Given the description of an element on the screen output the (x, y) to click on. 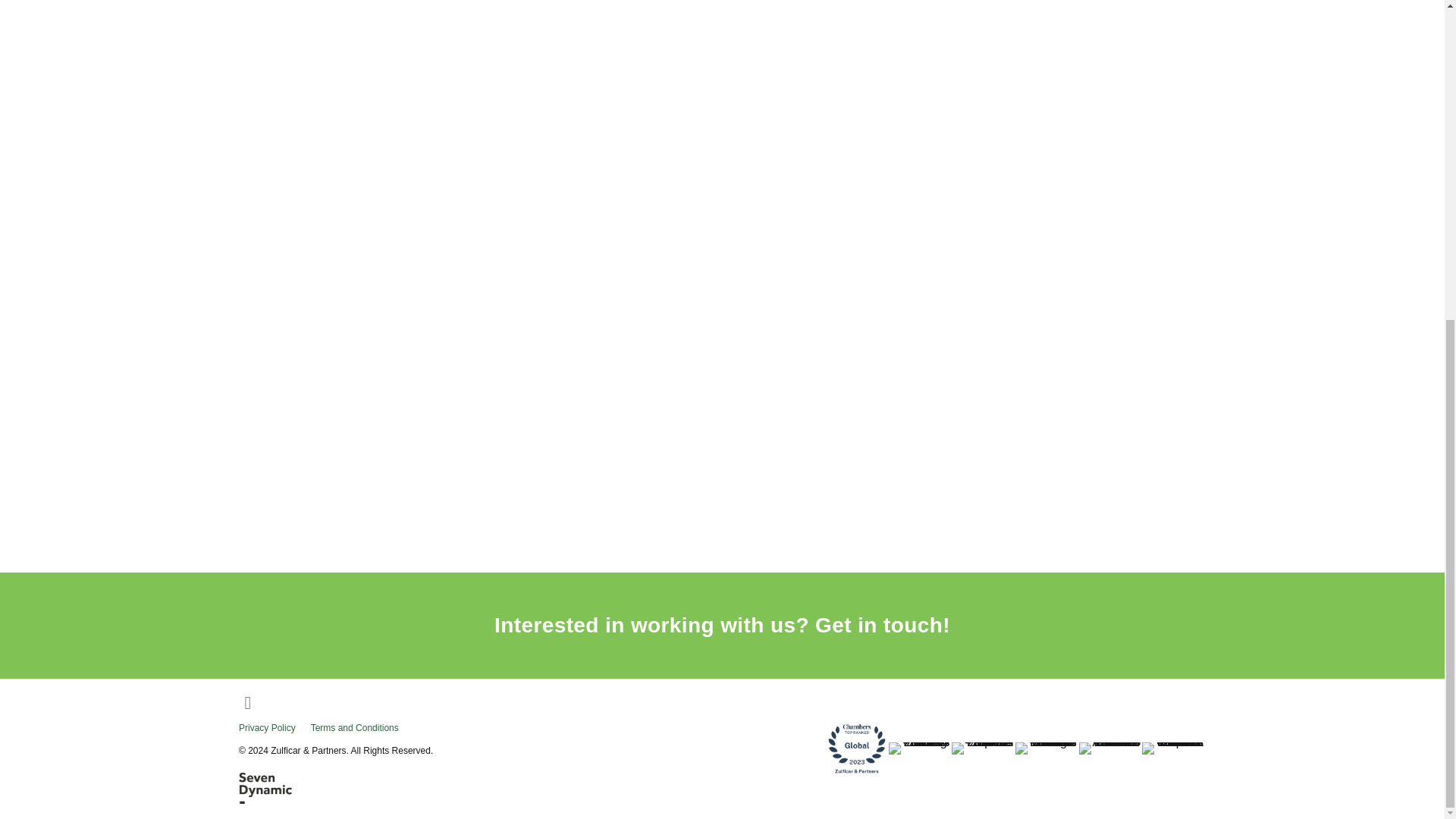
Privacy Policy (274, 727)
Terms and Conditions (362, 727)
